Given the description of an element on the screen output the (x, y) to click on. 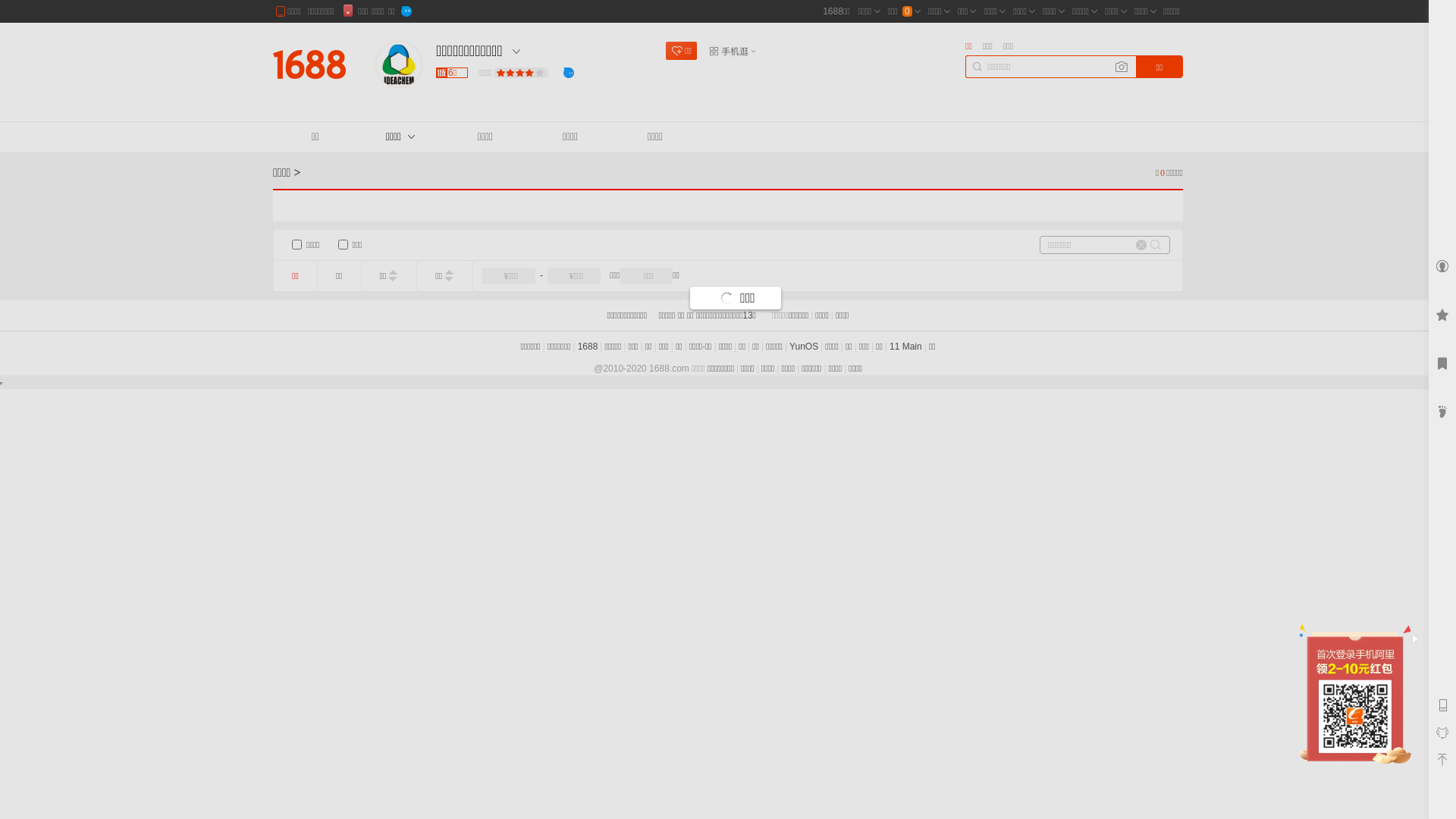
YunOS Element type: text (803, 346)
1688 Element type: text (587, 346)
11 Main Element type: text (905, 346)
